Given the description of an element on the screen output the (x, y) to click on. 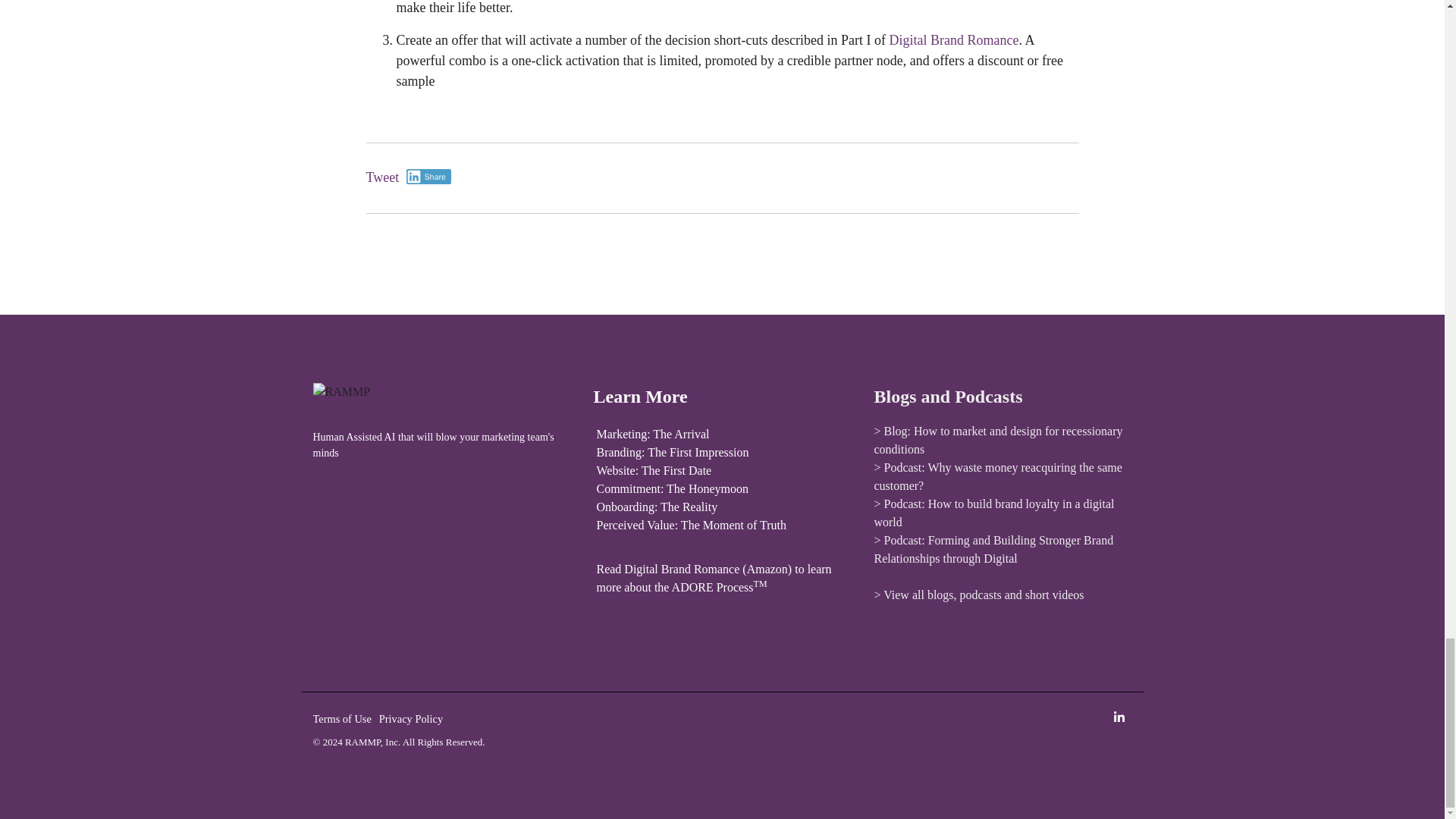
View all blogs, podcasts and short videos (983, 594)
Privacy Policy (413, 719)
Perceived Value: The Moment of Truth (690, 524)
Podcast: Why waste money reacquiring the same customer? (997, 476)
Commitment: The Honeymoon (671, 488)
Branding: The First Impression (671, 451)
Podcast: How to build brand loyalty in a digital world (993, 512)
Blog: How to market and design for recessionary conditions (997, 440)
Onboarding: The Reality (656, 506)
Marketing: The Arrival (652, 433)
Share (428, 176)
Digital Brand Romance (952, 39)
Tweet (381, 177)
Website: The First Date (653, 470)
